Given the description of an element on the screen output the (x, y) to click on. 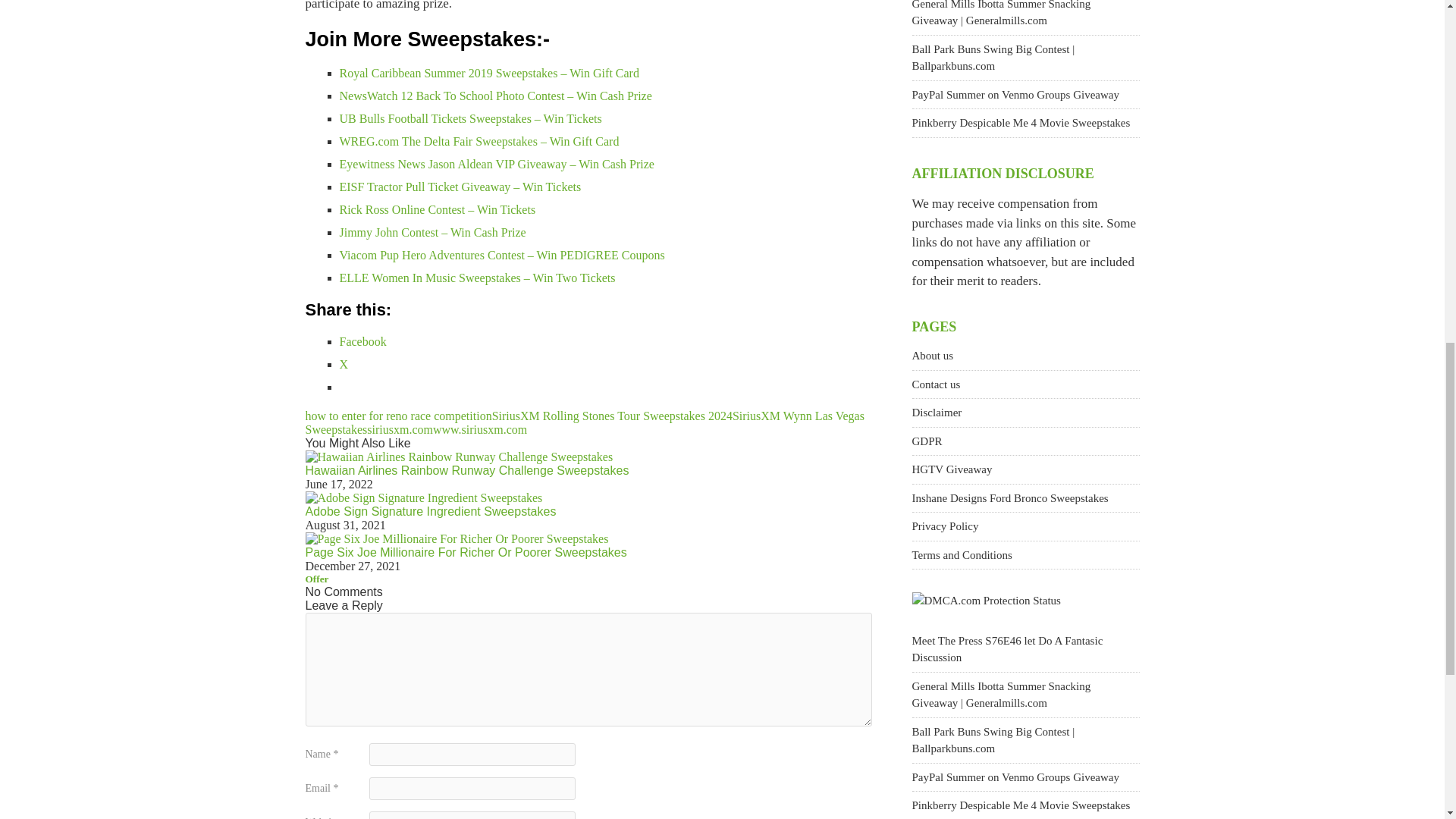
SiriusXM Wynn Las Vegas Sweepstakes (583, 422)
Posts by Offer (316, 578)
siriusxm.com (399, 429)
SiriusXM Rolling Stones Tour Sweepstakes 2024 (612, 415)
DMCA.com Protection Status (985, 600)
www.siriusxm.com (479, 429)
Click to share on Facebook (363, 341)
Facebook (363, 341)
how to enter for reno race competition (398, 415)
Page Six Joe Millionaire For Richer Or Poorer Sweepstakes (465, 552)
